Given the description of an element on the screen output the (x, y) to click on. 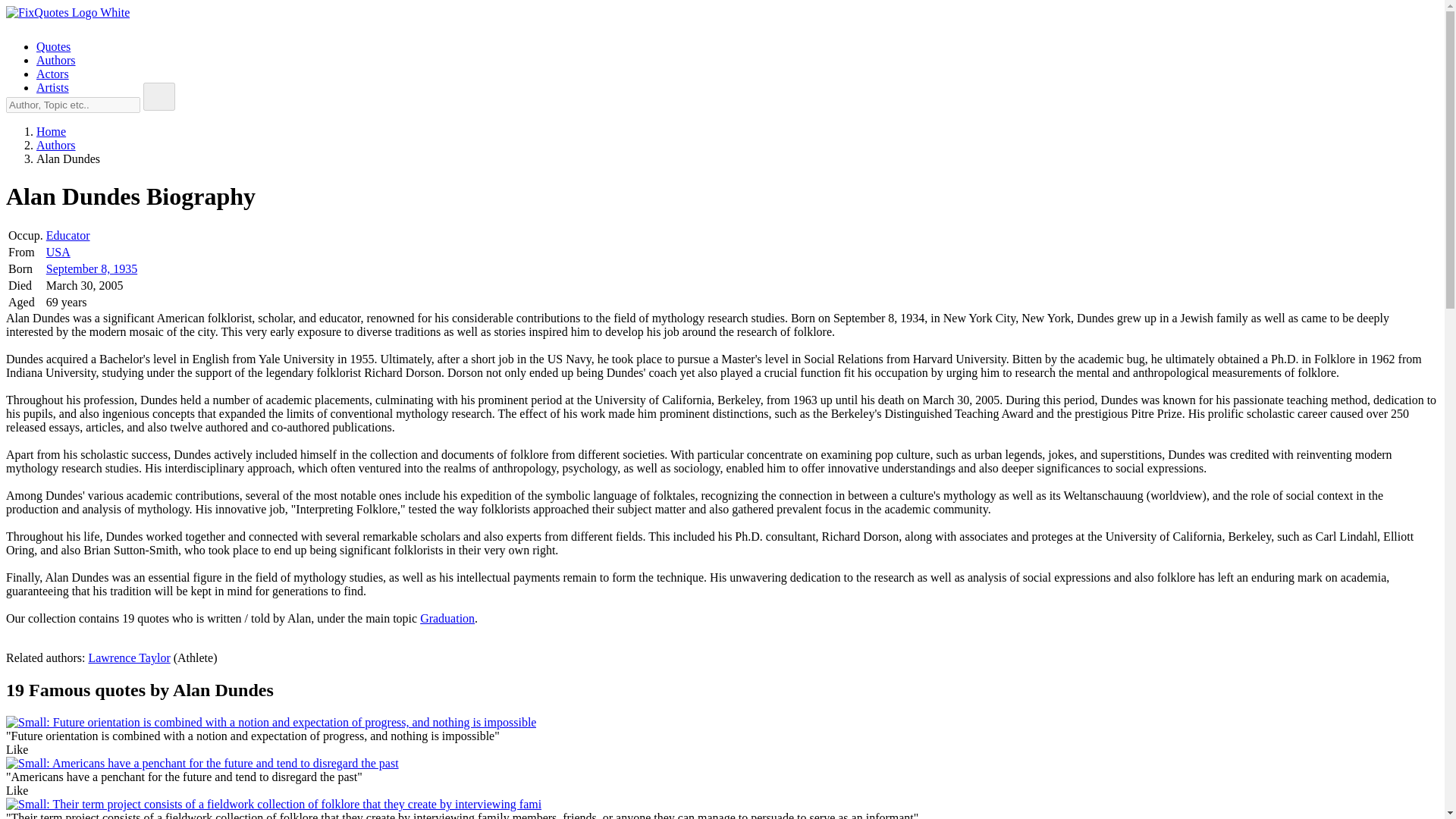
Artists (52, 87)
Quotes (52, 46)
Vote on the best quotes (16, 789)
September 8, 1935 (91, 268)
Authors (55, 60)
Actors (52, 73)
Educator (68, 235)
Home (50, 131)
Lawrence Taylor (128, 657)
Graduation (447, 617)
